Given the description of an element on the screen output the (x, y) to click on. 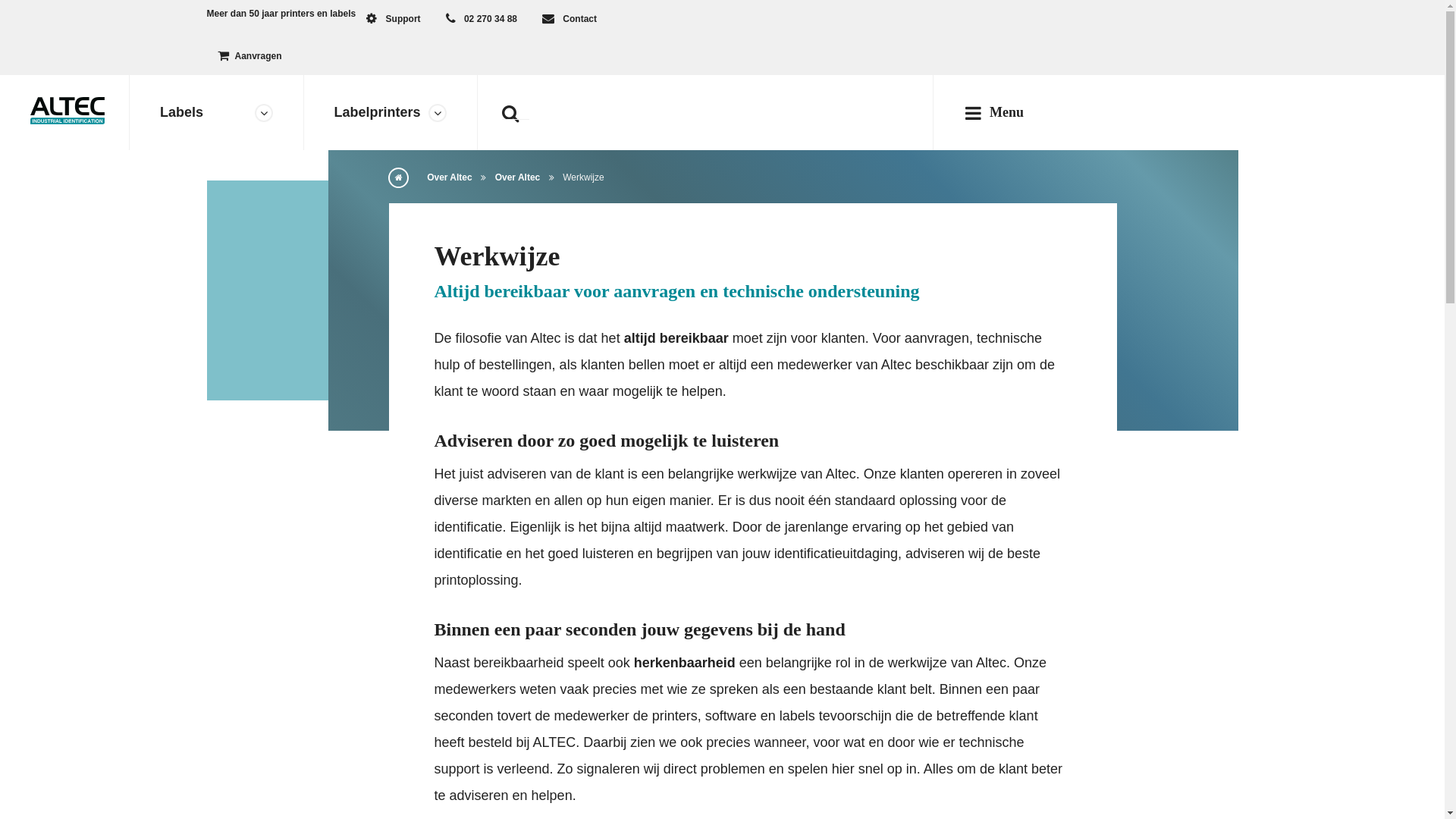
Labels Element type: text (216, 112)
Over Altec Element type: text (517, 177)
Aanvragen Element type: text (248, 56)
Over Altec Element type: text (449, 177)
Labelprinters Element type: text (389, 112)
Contact Element type: text (569, 18)
Menu Element type: text (997, 112)
02 270 34 88 Element type: text (481, 18)
